Given the description of an element on the screen output the (x, y) to click on. 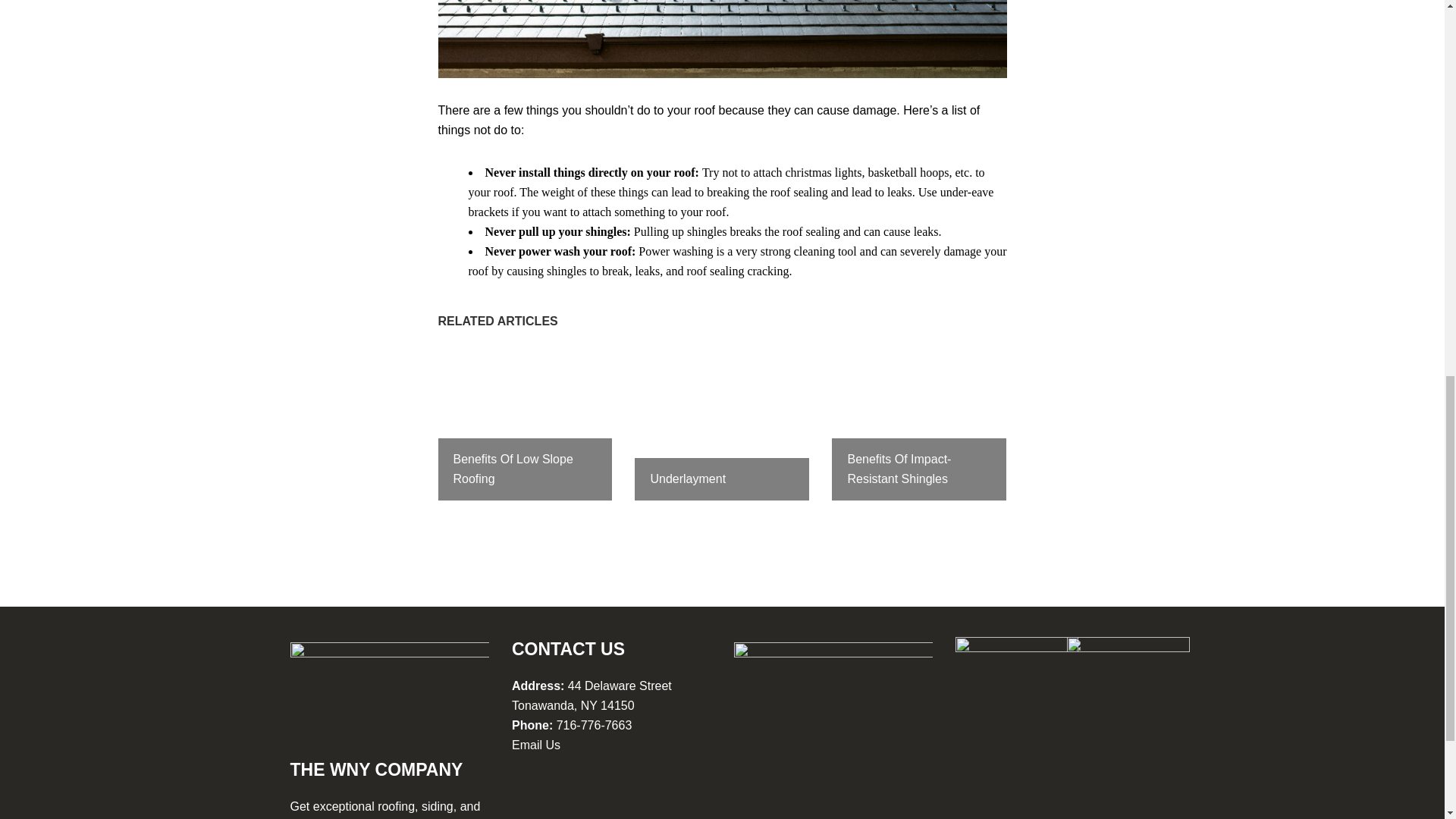
Benefits Of Low Slope Roofing (525, 423)
Benefits Of Impact-Resistant Shingles (918, 423)
Underlayment (721, 423)
Benefits Of Impact-Resistant Shingles (918, 423)
716-776-7663 (593, 725)
Email Us (536, 744)
Underlayment (721, 423)
Benefits Of Low Slope Roofing (525, 423)
